Given the description of an element on the screen output the (x, y) to click on. 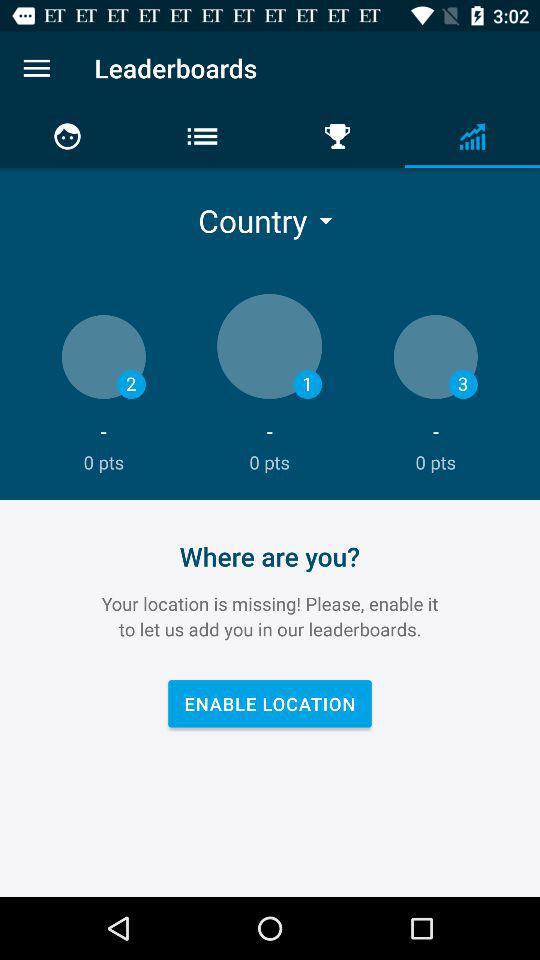
tap the item to the left of leaderboards icon (36, 68)
